Given the description of an element on the screen output the (x, y) to click on. 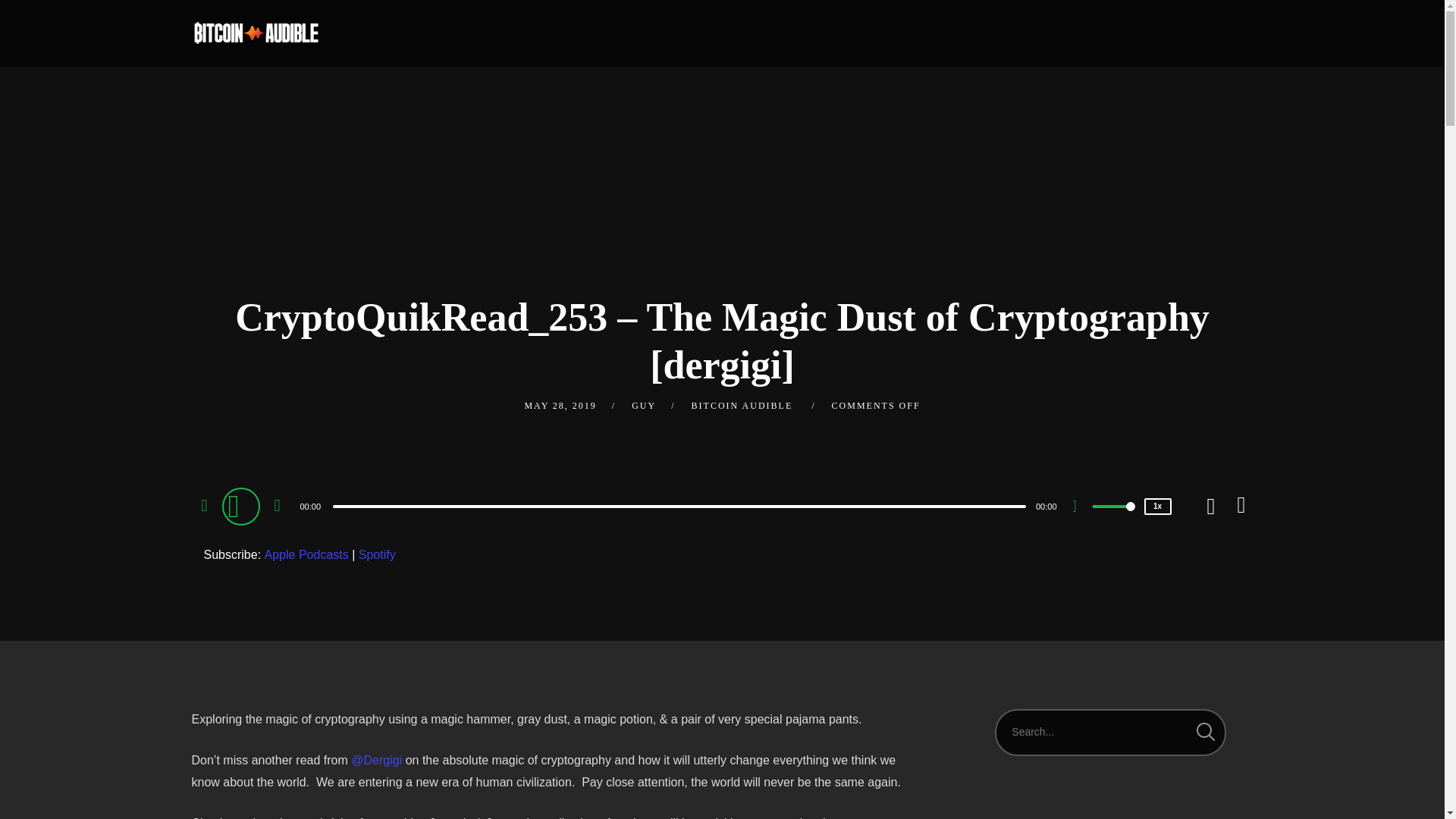
Apple Podcasts (306, 555)
Spotify (377, 555)
1x (1156, 506)
GUY (643, 405)
Bitcoin Audible (255, 33)
Spotify (377, 555)
Apple Podcasts (306, 555)
Play (242, 505)
Speed Rate (1156, 506)
Submit (32, 22)
Mute (1079, 507)
